Given the description of an element on the screen output the (x, y) to click on. 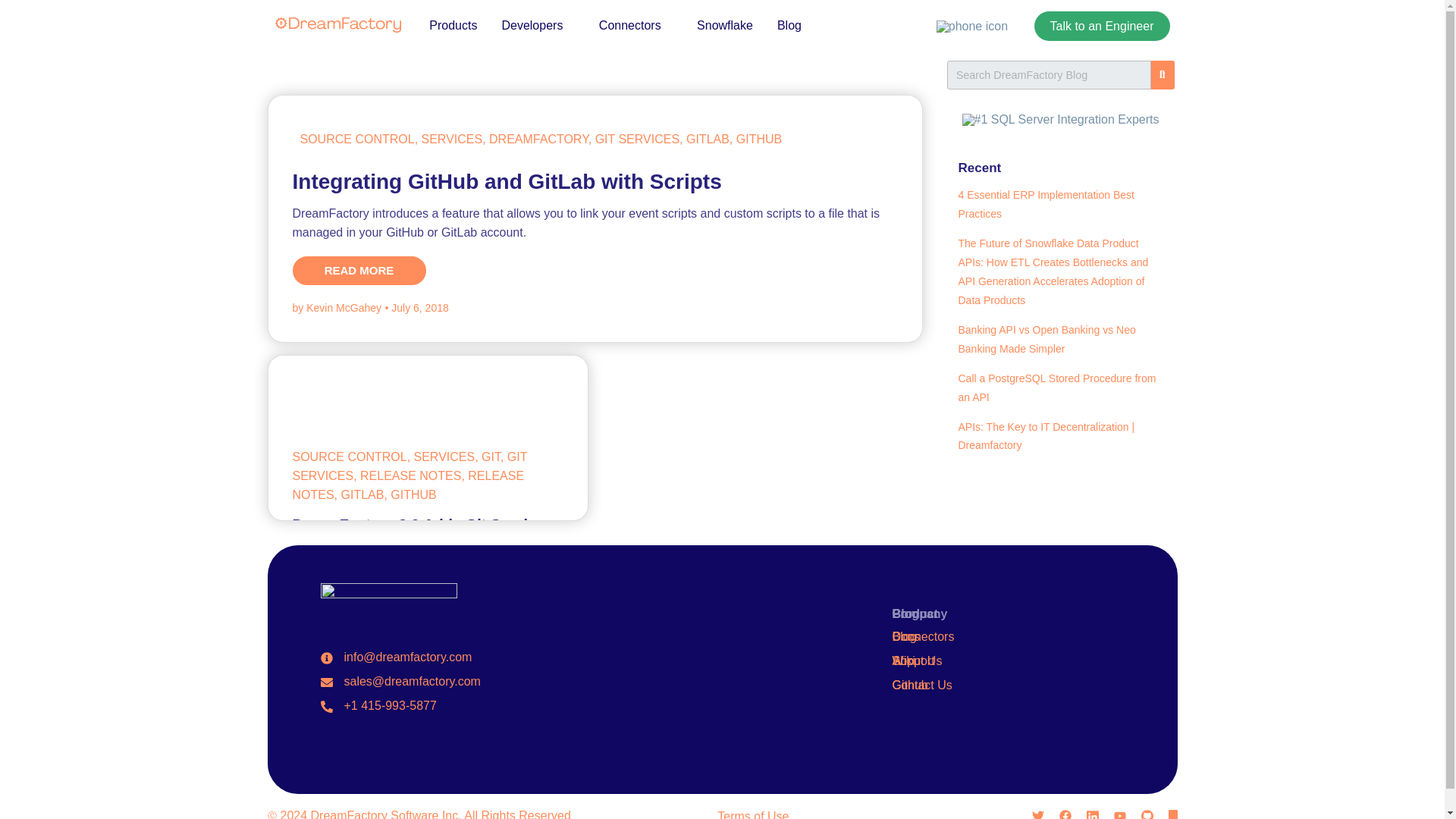
Snowflake (724, 24)
Blog (789, 24)
Talk to an Engineer (1101, 25)
Products (453, 24)
